Given the description of an element on the screen output the (x, y) to click on. 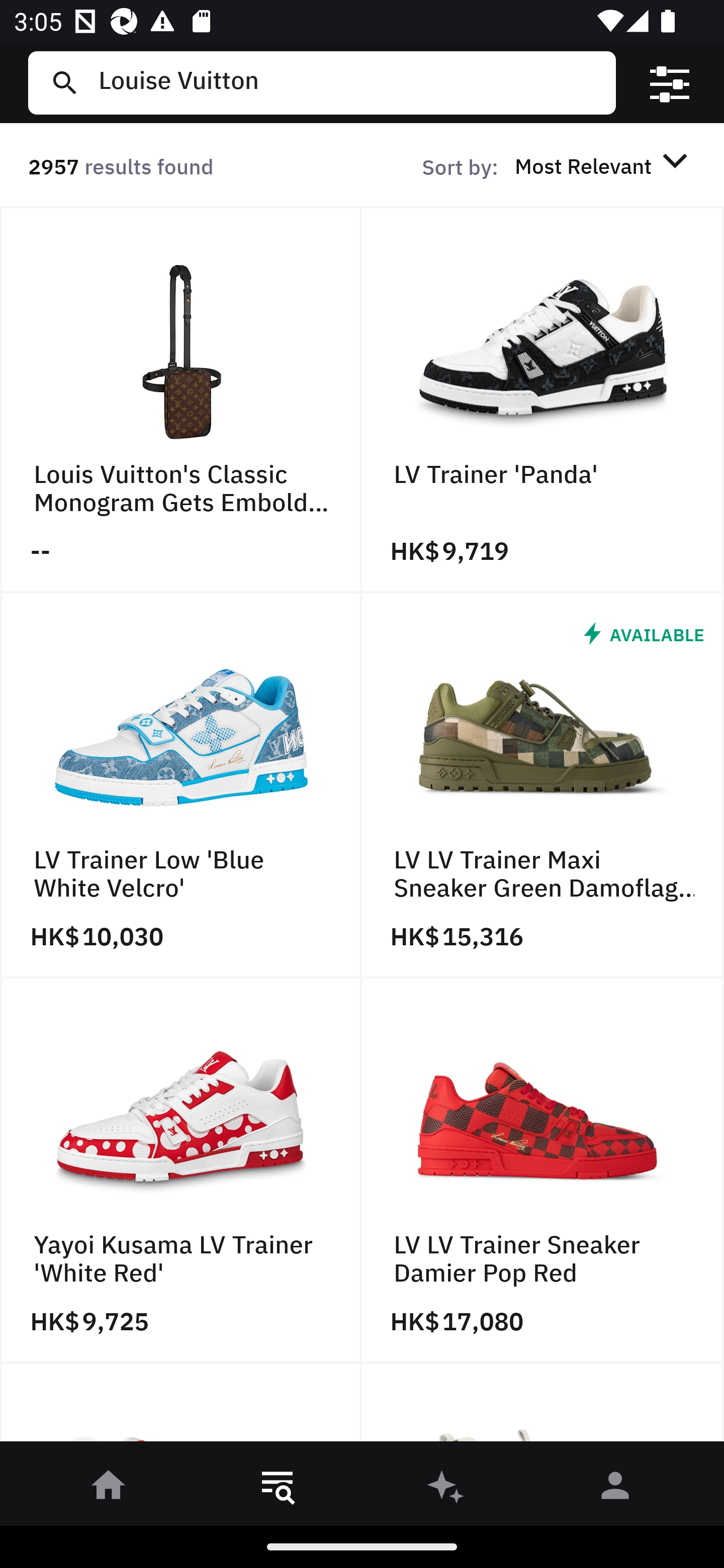
Louise Vuitton (349, 82)
 (669, 82)
Most Relevant  (604, 165)
LV Trainer 'Panda' HK$ 9,719 (543, 399)
LV Trainer Low 'Blue White Velcro' HK$ 10,030 (181, 785)
Yayoi Kusama LV Trainer 'White Red' HK$ 9,725 (181, 1171)
LV LV Trainer Sneaker Damier Pop Red HK$ 17,080 (543, 1171)
󰋜 (108, 1488)
󱎸 (277, 1488)
󰫢 (446, 1488)
󰀄 (615, 1488)
